Given the description of an element on the screen output the (x, y) to click on. 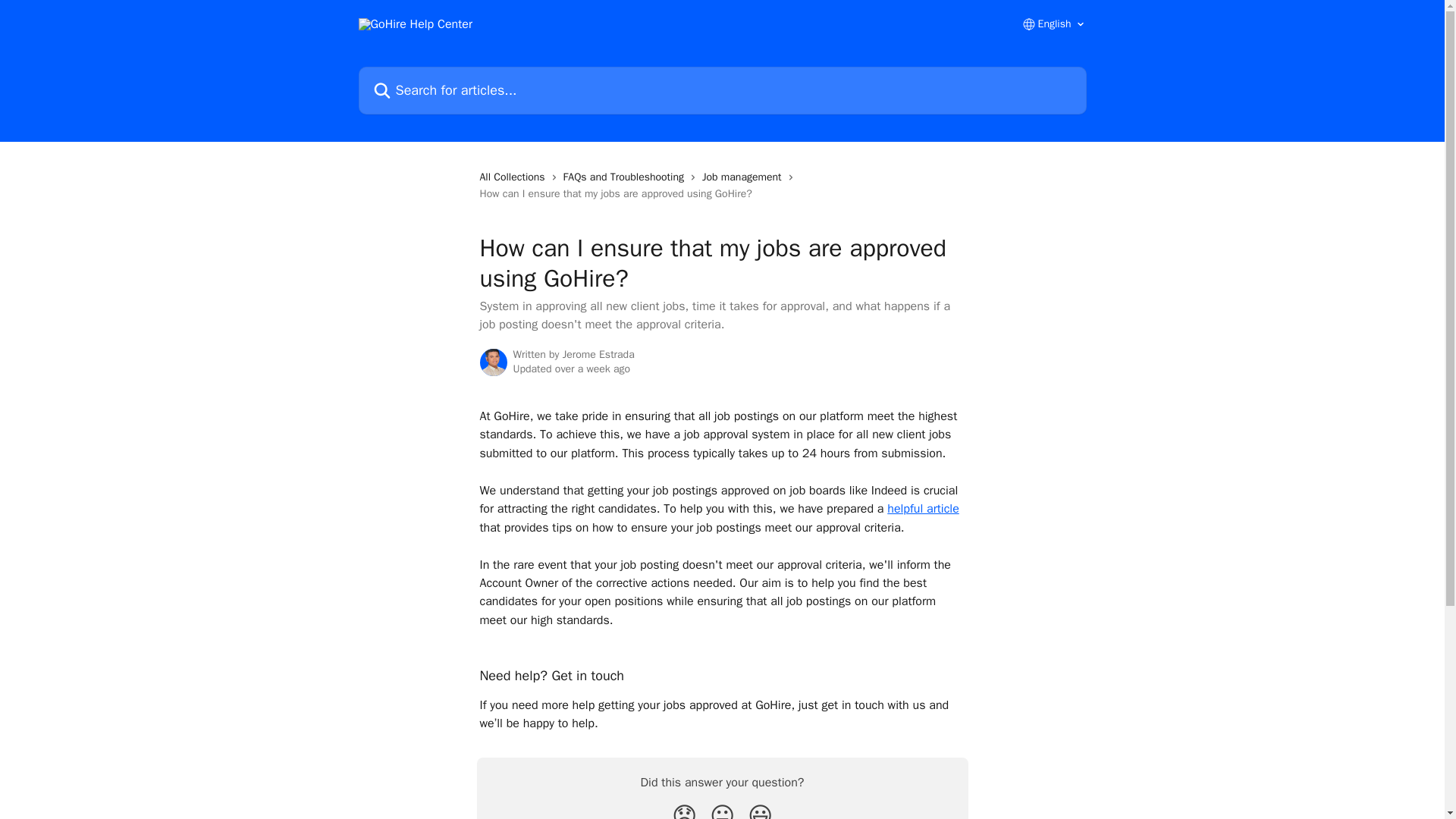
Job management (744, 176)
Neutral (722, 809)
Smiley (760, 809)
All Collections (514, 176)
FAQs and Troubleshooting (626, 176)
Disappointed (684, 809)
helpful article (922, 508)
